Given the description of an element on the screen output the (x, y) to click on. 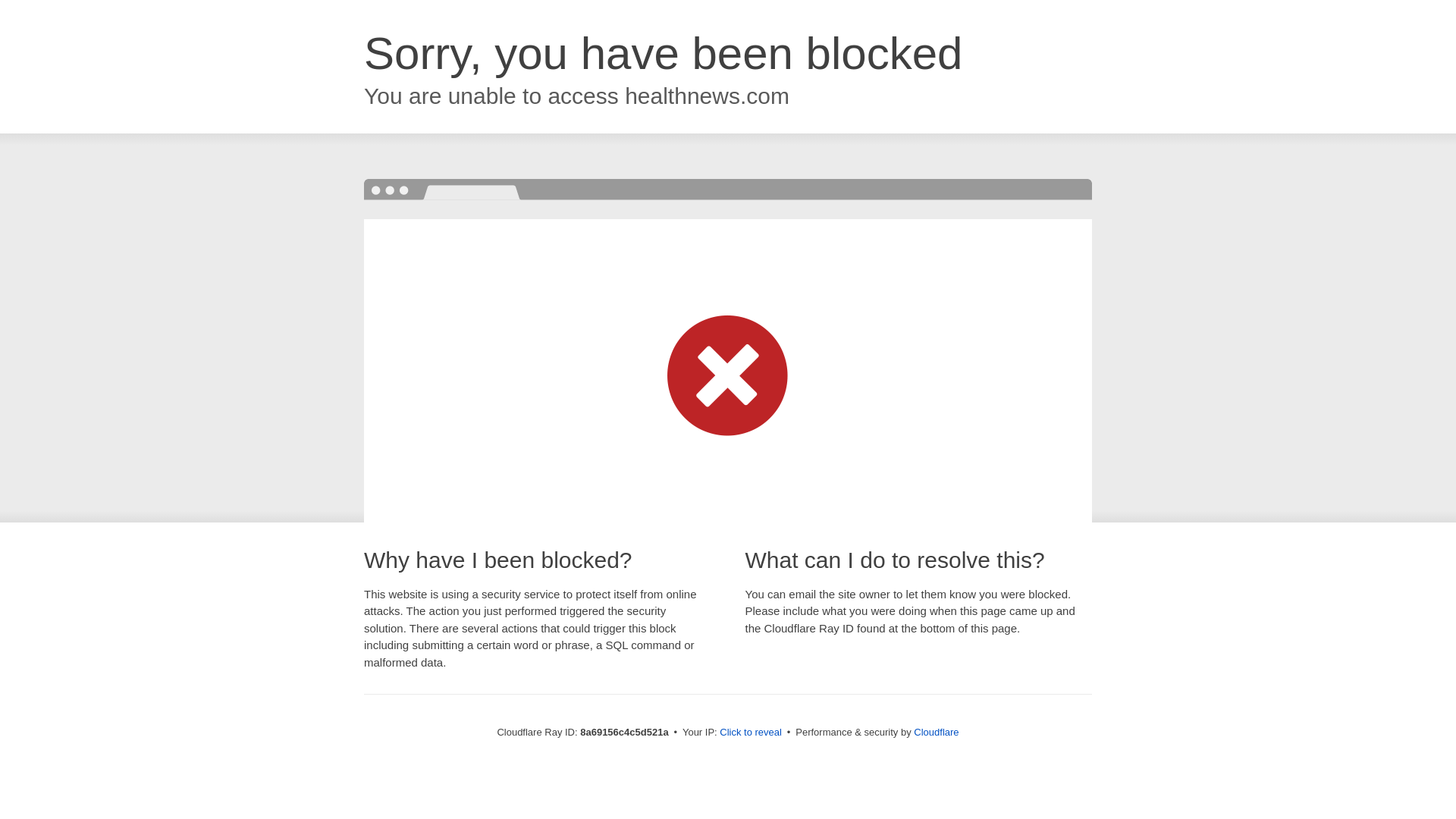
Click to reveal (750, 732)
Cloudflare (936, 731)
